Given the description of an element on the screen output the (x, y) to click on. 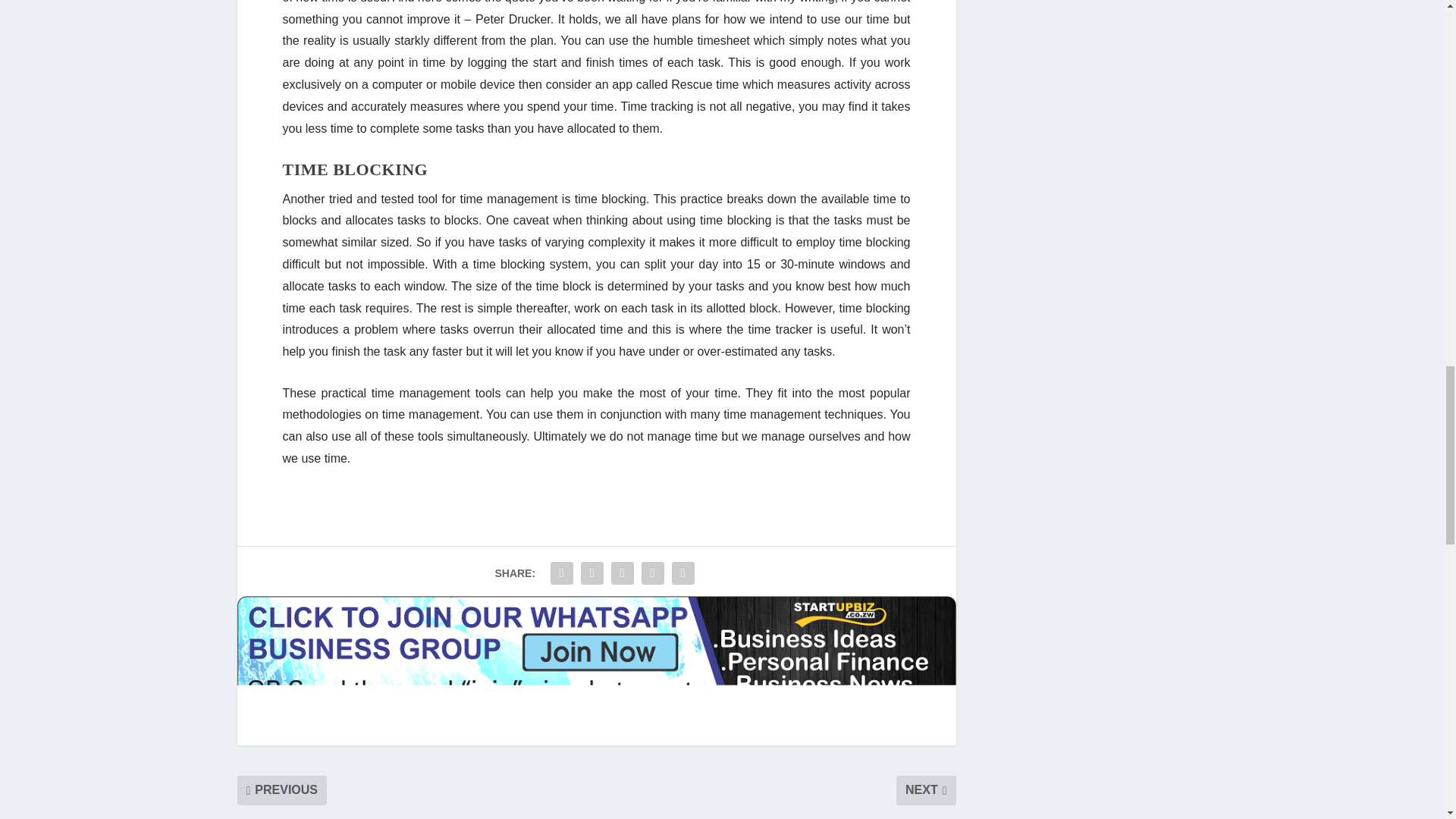
Share "Time management tools" via LinkedIn (622, 572)
Share "Time management tools" via Print (683, 572)
Share "Time management tools" via Facebook (561, 572)
Share "Time management tools" via Twitter (591, 572)
Share "Time management tools" via Email (652, 572)
